Given the description of an element on the screen output the (x, y) to click on. 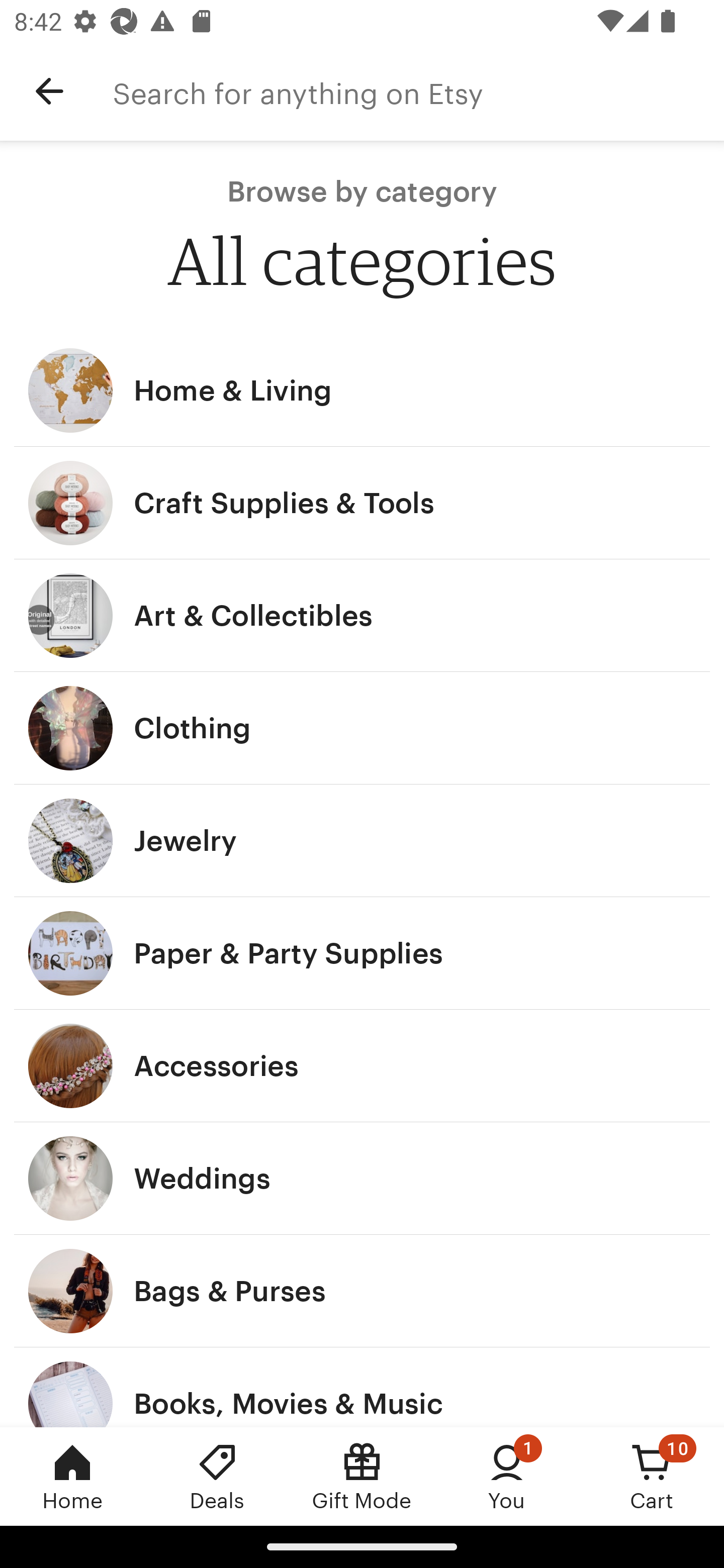
Navigate up (49, 91)
Search for anything on Etsy (418, 91)
Home & Living (361, 389)
Craft Supplies & Tools (361, 502)
Art & Collectibles (361, 615)
Clothing (361, 728)
Jewelry (361, 840)
Paper & Party Supplies (361, 952)
Accessories (361, 1065)
Weddings (361, 1178)
Bags & Purses (361, 1290)
Books, Movies & Music (361, 1386)
Deals (216, 1475)
Gift Mode (361, 1475)
You, 1 new notification You (506, 1475)
Cart, 10 new notifications Cart (651, 1475)
